Given the description of an element on the screen output the (x, y) to click on. 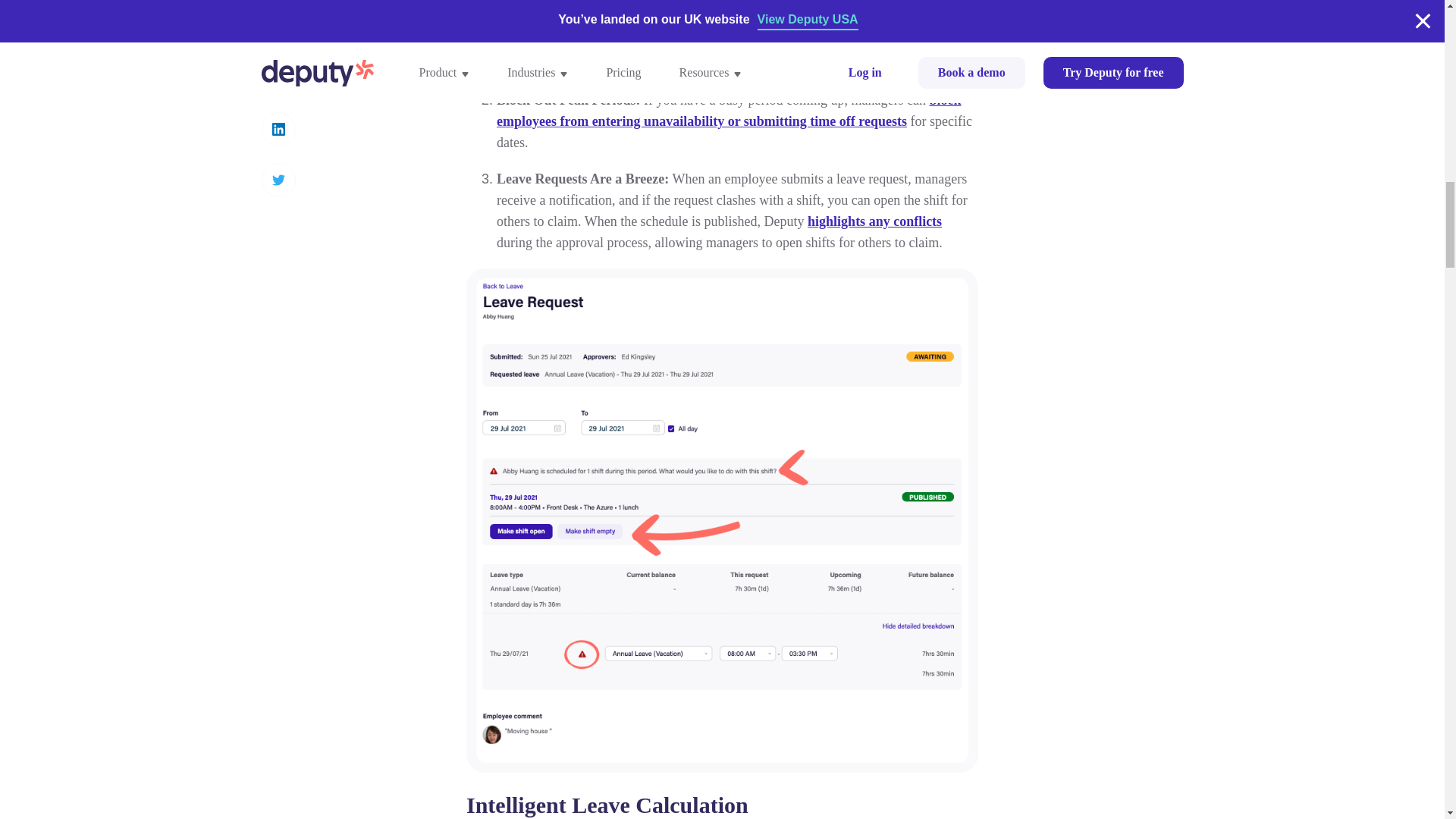
highlights any conflicts (875, 221)
time off view in the schedule (578, 63)
